Given the description of an element on the screen output the (x, y) to click on. 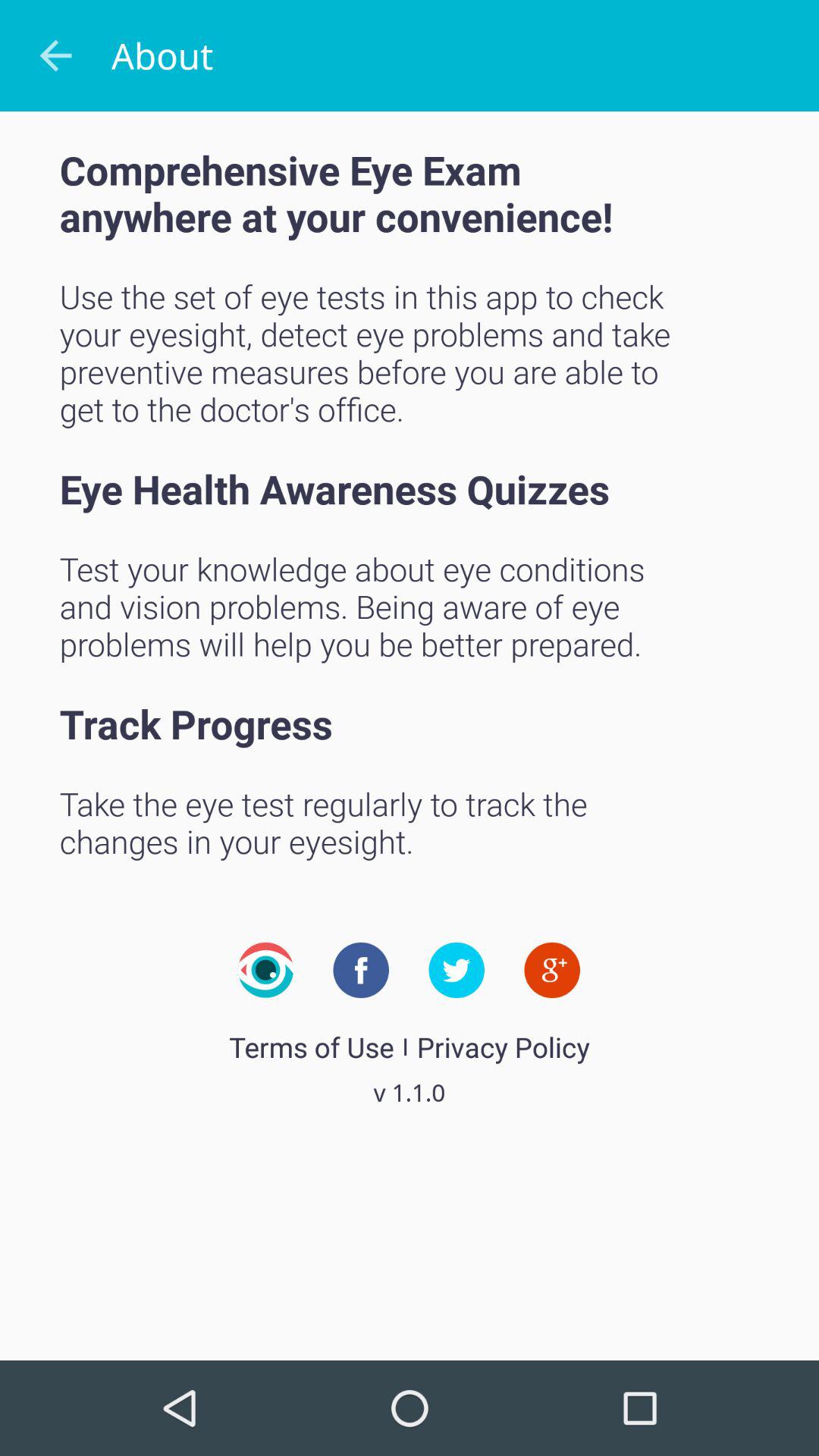
swipe until the privacy policy icon (502, 1046)
